Given the description of an element on the screen output the (x, y) to click on. 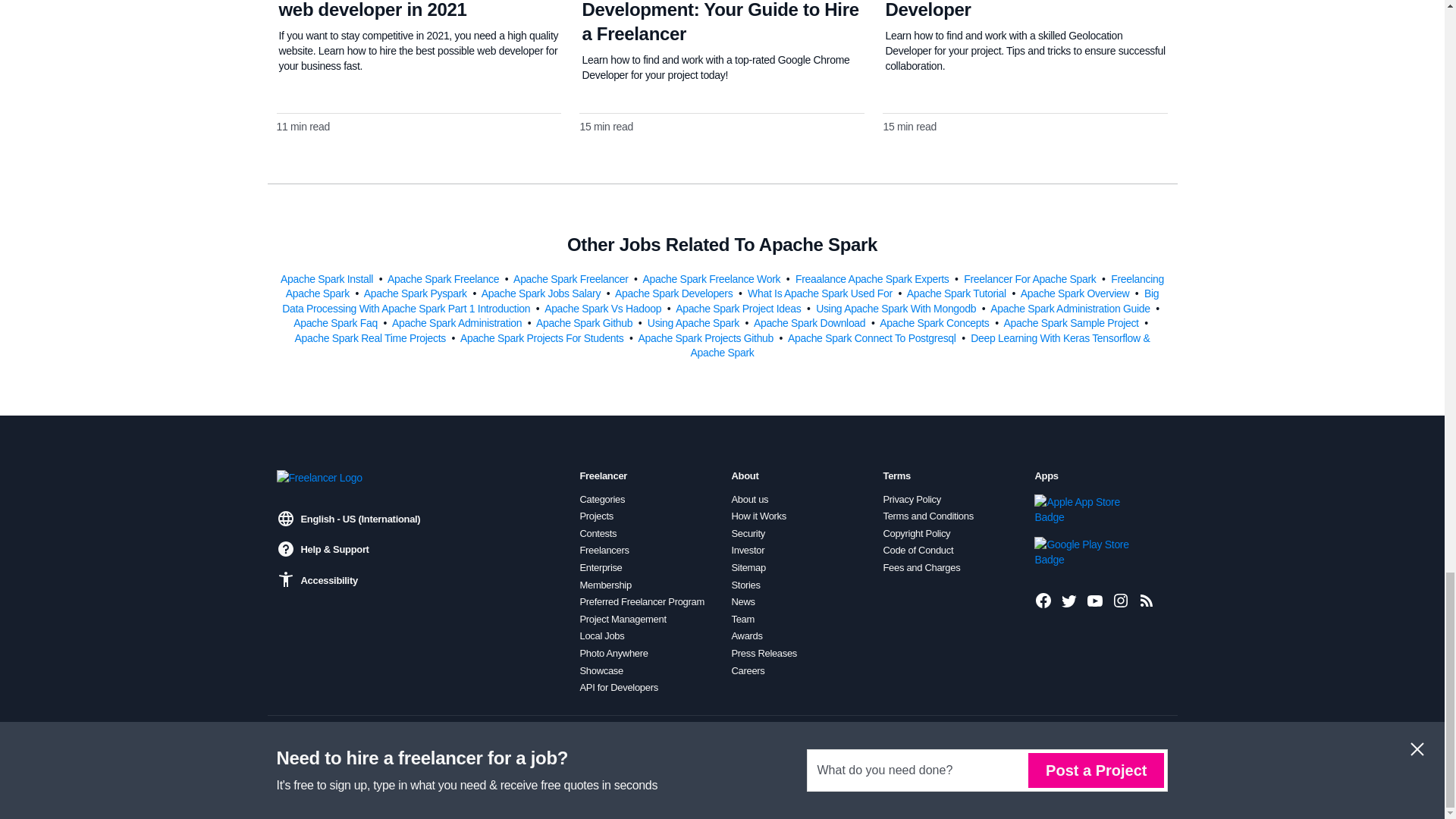
Apache Spark Freelance Work (712, 277)
Freelancer For Apache Spark (1031, 277)
Freelancer on Twitter (1068, 600)
Freelancer on Instagram (1120, 600)
Freelancer on Facebook (1042, 600)
The ultimate guide to hiring a web developer in 2021 (402, 9)
Guide to Hiring a Geolocation Developer (1009, 9)
Latest Projects (1146, 600)
Apache Spark Freelancer (571, 277)
Download on the App Store (1085, 509)
Freelancer on Youtube (1094, 600)
Get it on Google Play (1085, 552)
Freaalance Apache Spark Experts (873, 277)
Apache Spark Install (328, 277)
